Given the description of an element on the screen output the (x, y) to click on. 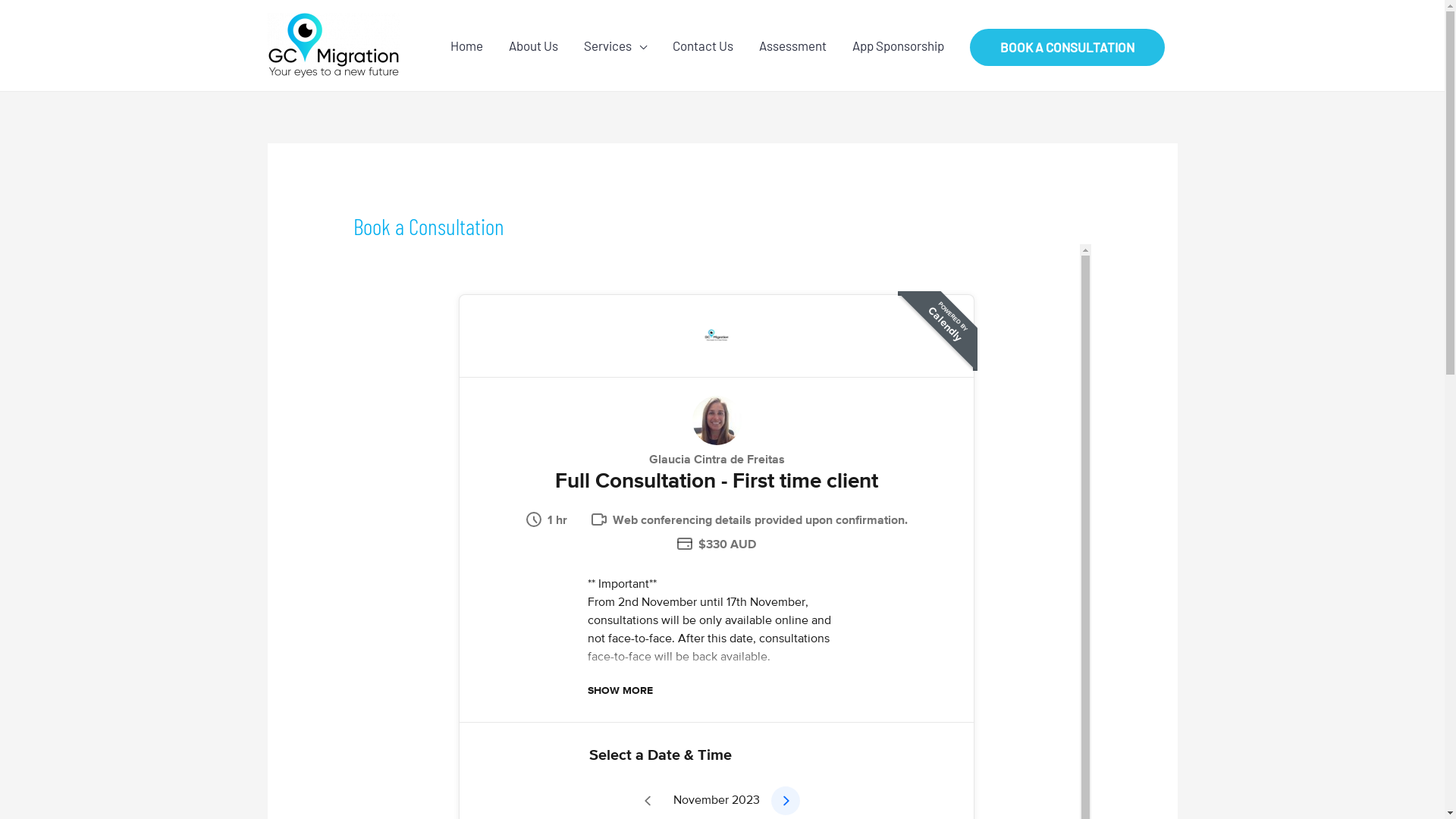
Assessment Element type: text (792, 45)
Home Element type: text (465, 45)
Contact Us Element type: text (702, 45)
About Us Element type: text (533, 45)
App Sponsorship Element type: text (897, 45)
Services Element type: text (614, 45)
BOOK A CONSULTATION Element type: text (1066, 46)
